Given the description of an element on the screen output the (x, y) to click on. 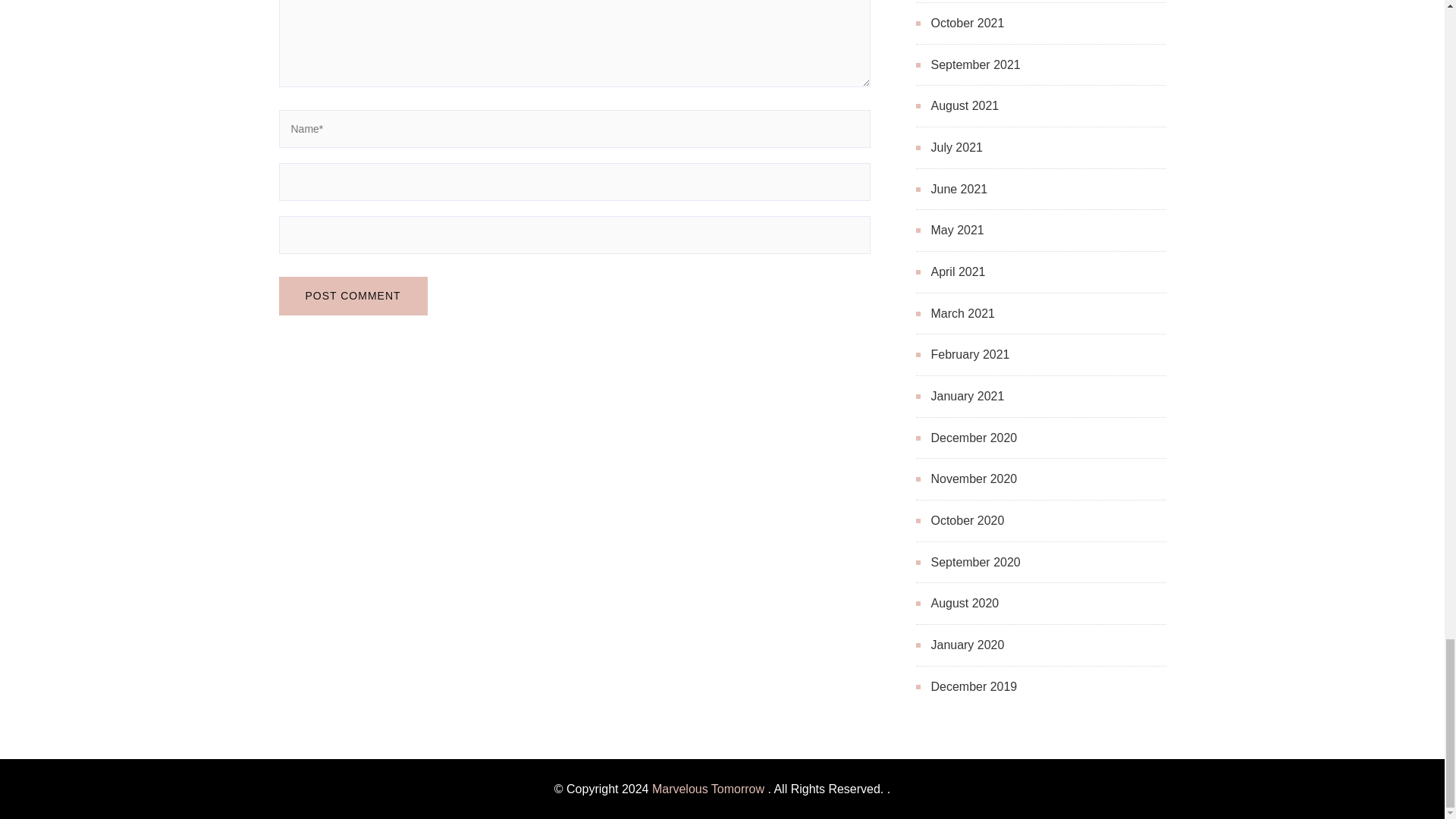
Post Comment (353, 295)
